Given the description of an element on the screen output the (x, y) to click on. 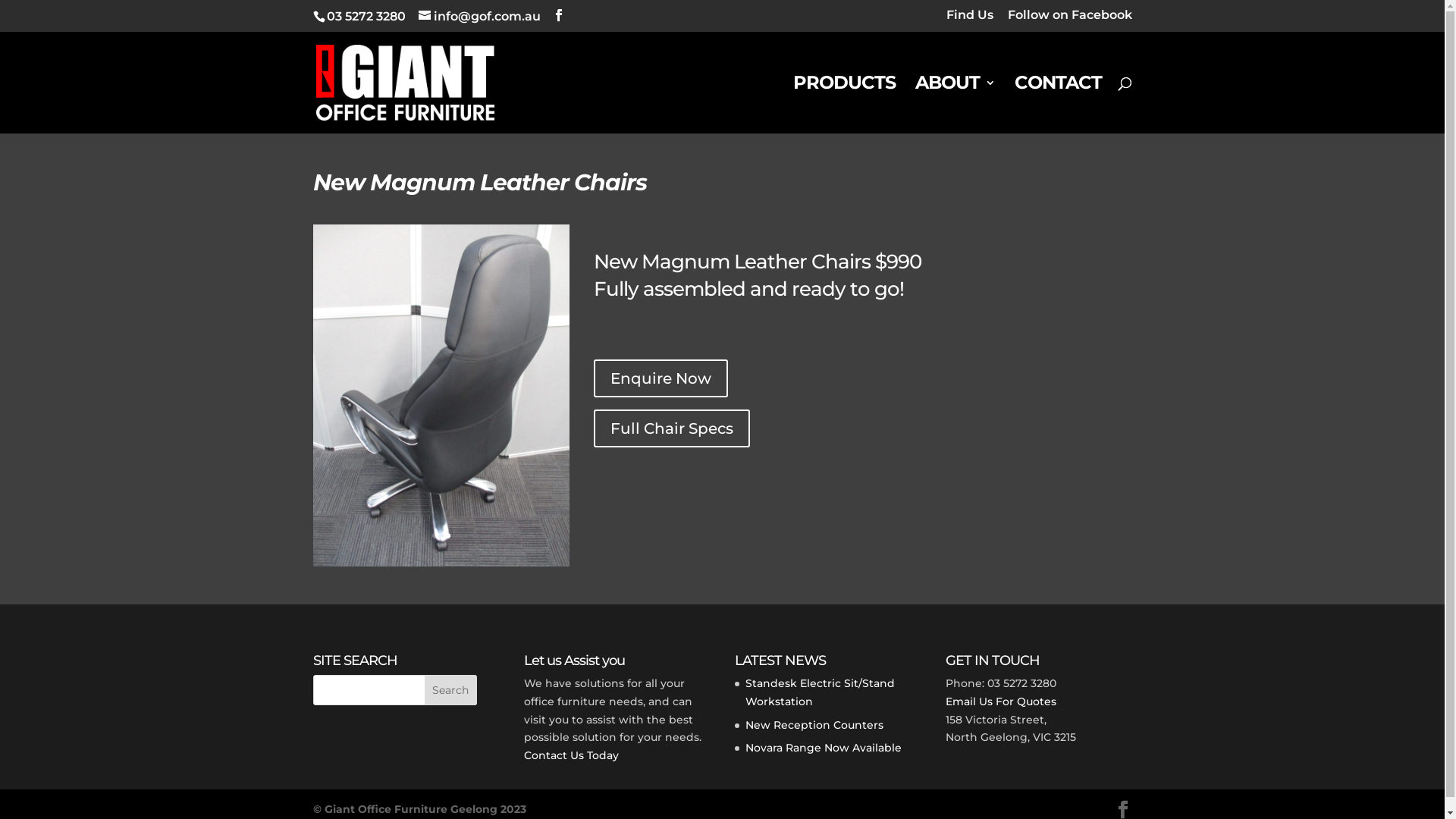
Standesk Electric Sit/Stand Workstation Element type: text (819, 692)
New Reception Counters Element type: text (814, 724)
Contact Us Today Element type: text (571, 755)
info@gof.com.au Element type: text (479, 16)
ABOUT Element type: text (954, 105)
IMG_1477 Element type: hover (440, 566)
CONTACT Element type: text (1057, 105)
Email Us For Quotes Element type: text (1000, 701)
Find Us Element type: text (969, 19)
Search Element type: text (450, 689)
Novara Range Now Available Element type: text (823, 747)
1 Element type: text (434, 535)
Enquire Now Element type: text (660, 378)
Follow on Facebook Element type: text (1069, 19)
2 Element type: text (447, 535)
PRODUCTS Element type: text (844, 105)
Full Chair Specs Element type: text (671, 428)
